Given the description of an element on the screen output the (x, y) to click on. 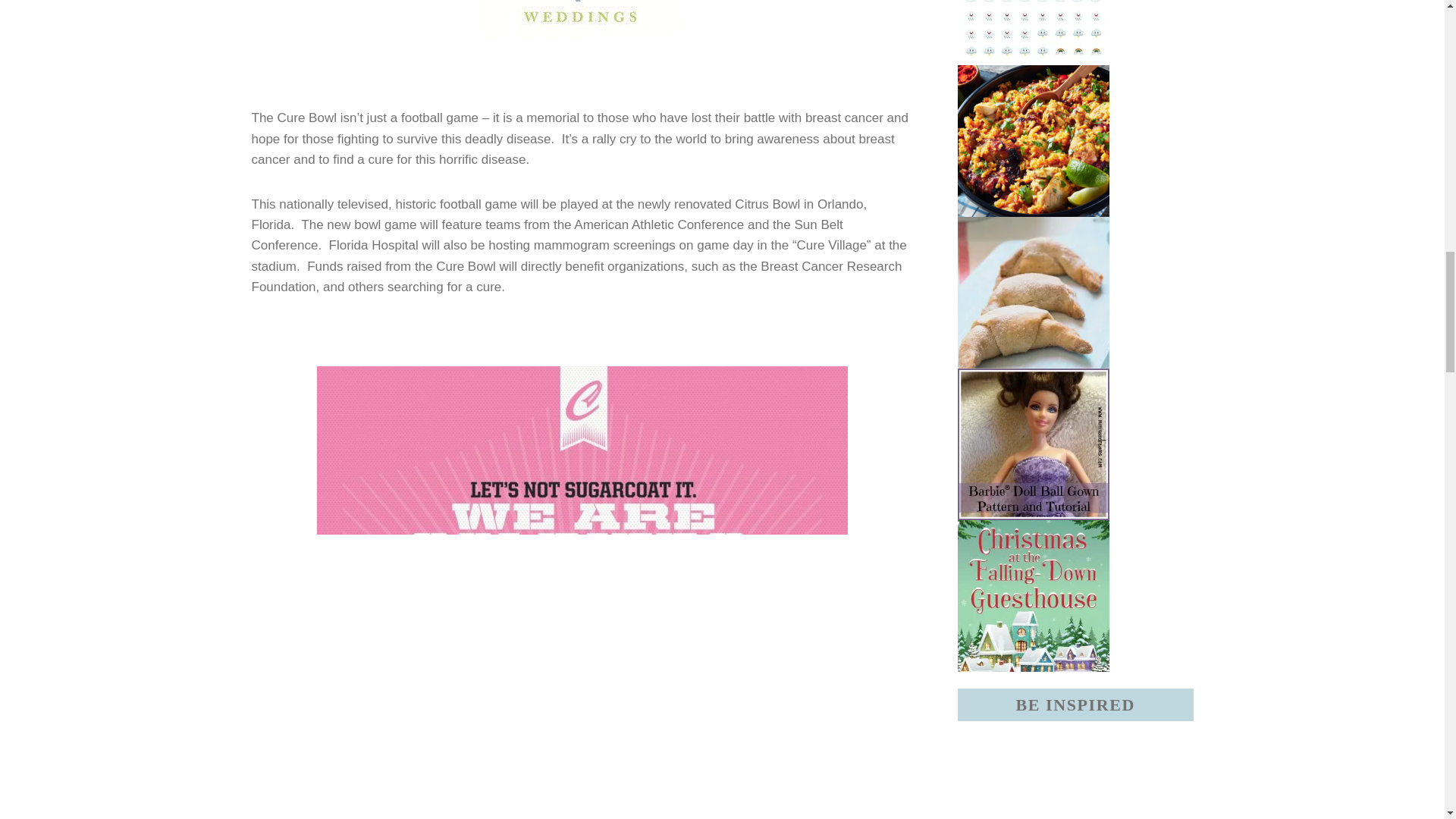
Arroz con Pollo (1075, 141)
Chocolate Crescent Rolls (1075, 292)
Free Printable Planner Stickers - Weather Icons (1075, 32)
